Given the description of an element on the screen output the (x, y) to click on. 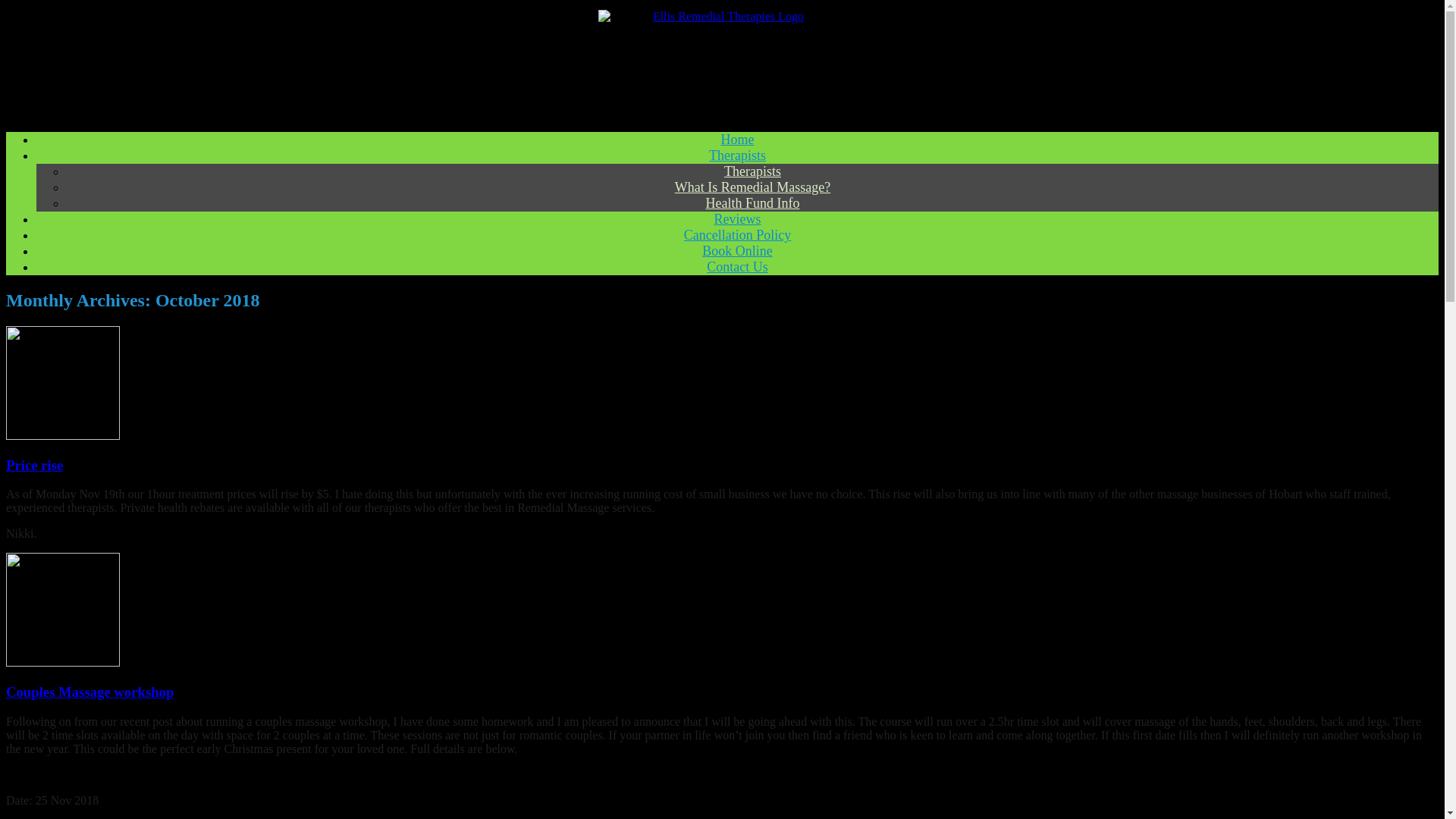
Cancellation Policy (737, 235)
Permalink to Price rise (33, 465)
Therapists (737, 155)
What Is Remedial Massage? (752, 186)
Couples Massage workshop (89, 691)
Permalink to Couples Massage workshop (89, 691)
Contact Us (737, 266)
Therapists (751, 171)
Health Fund Info (751, 203)
Book Online (737, 250)
Price rise (33, 465)
Reviews (737, 218)
Home (737, 139)
